Given the description of an element on the screen output the (x, y) to click on. 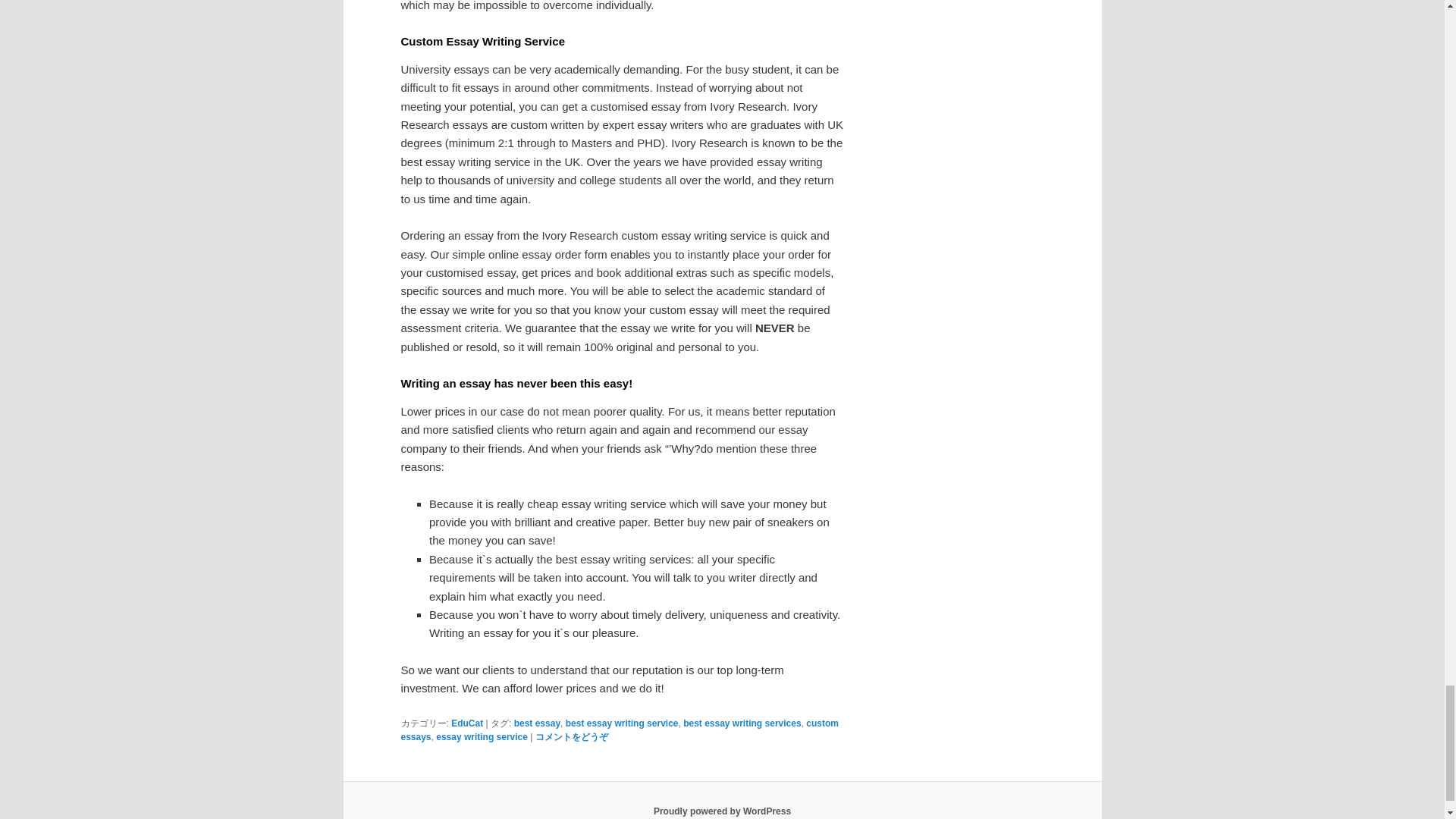
best essay (536, 723)
EduCat (467, 723)
best essay writing service (622, 723)
